Given the description of an element on the screen output the (x, y) to click on. 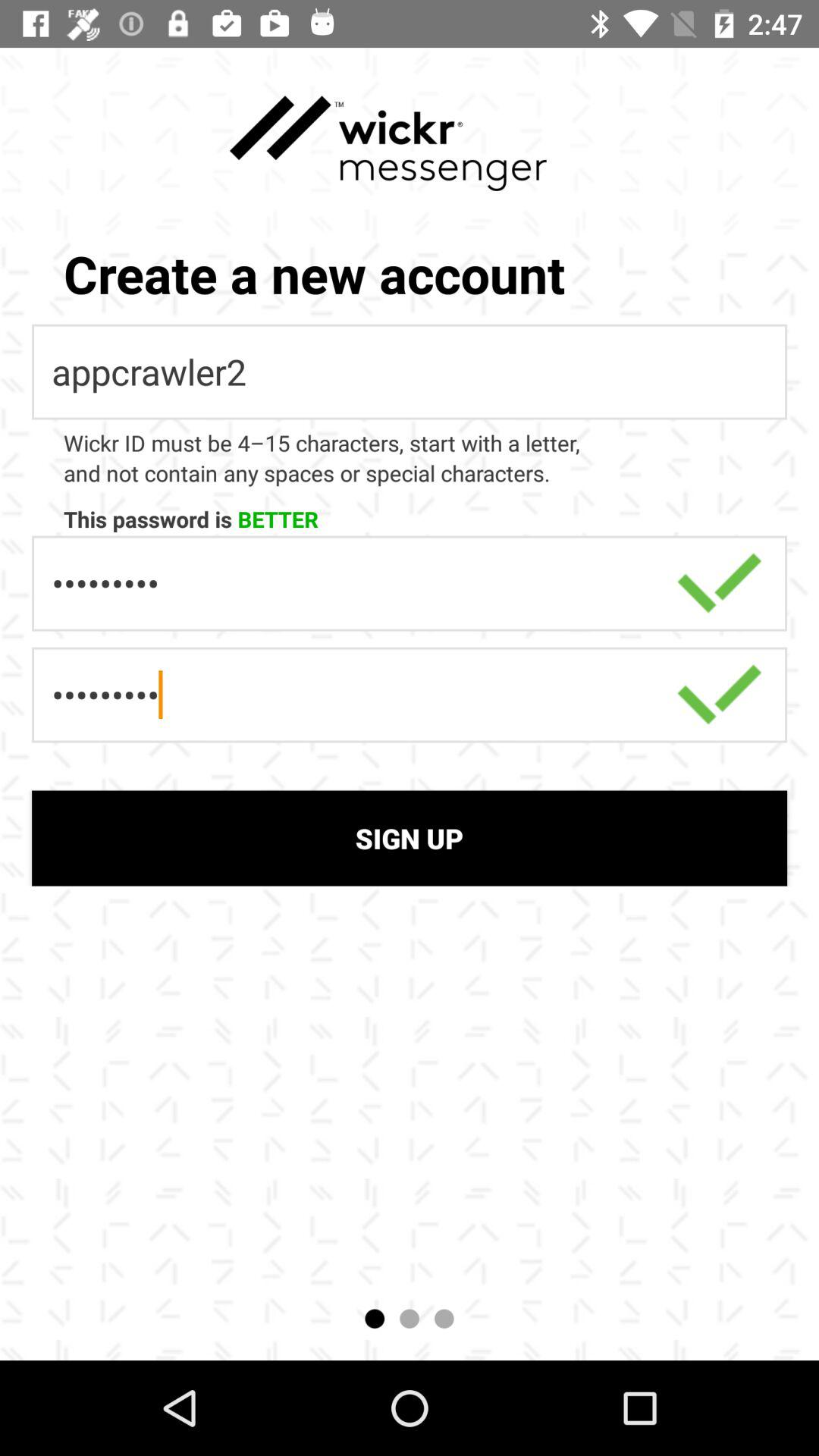
select appcrawler2 (409, 372)
select the 1st box below the word better (409, 583)
click on the second option which is above sign up (409, 694)
